Given the description of an element on the screen output the (x, y) to click on. 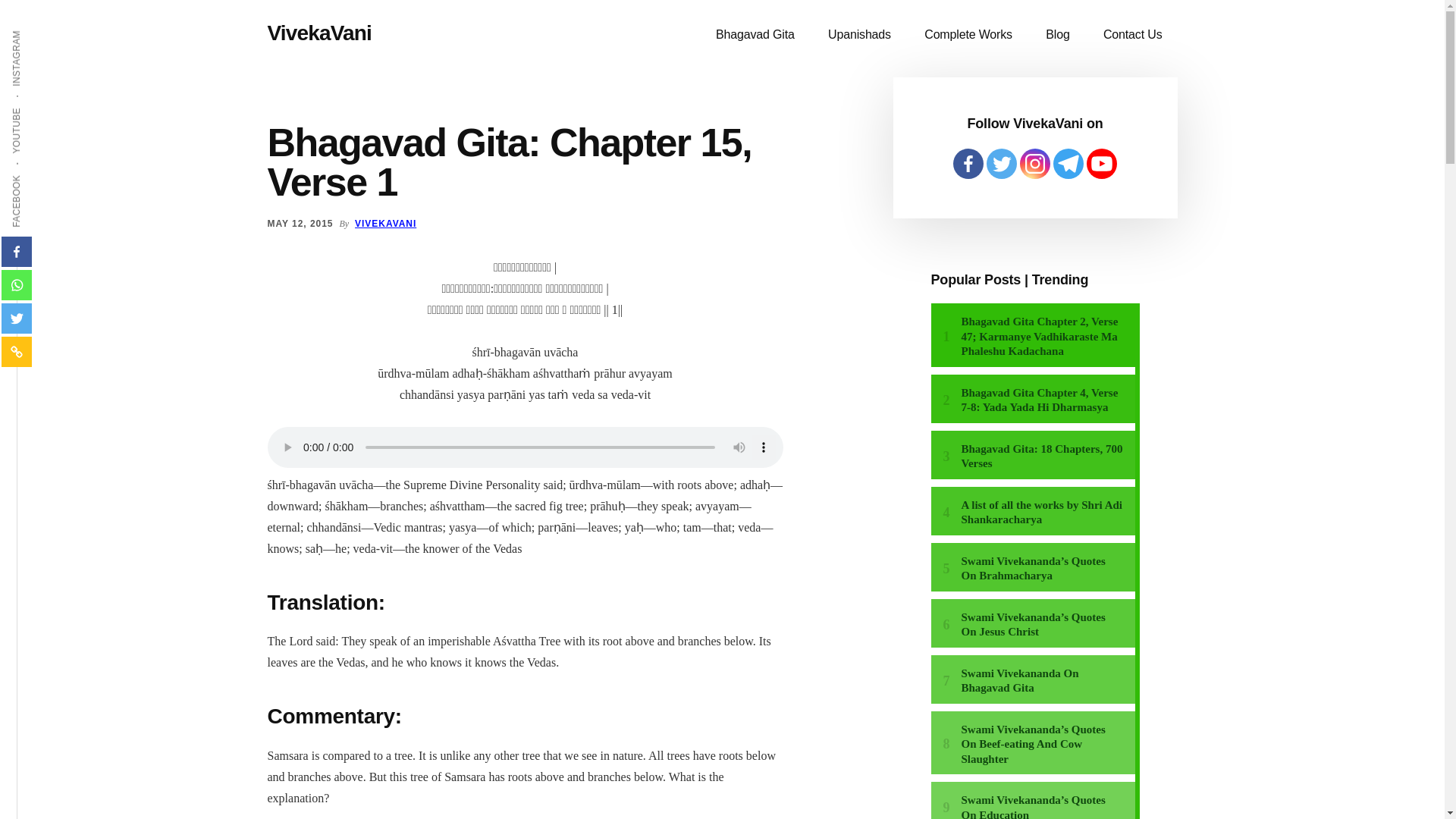
Telegram (1067, 163)
Facebook (968, 163)
Complete Works (967, 34)
Facebook (16, 251)
Blog (1057, 34)
VIVEKAVANI (385, 223)
Twitter (16, 318)
YOUTUBE (41, 106)
Contact Us (1132, 34)
FACEBOOK (44, 173)
